Given the description of an element on the screen output the (x, y) to click on. 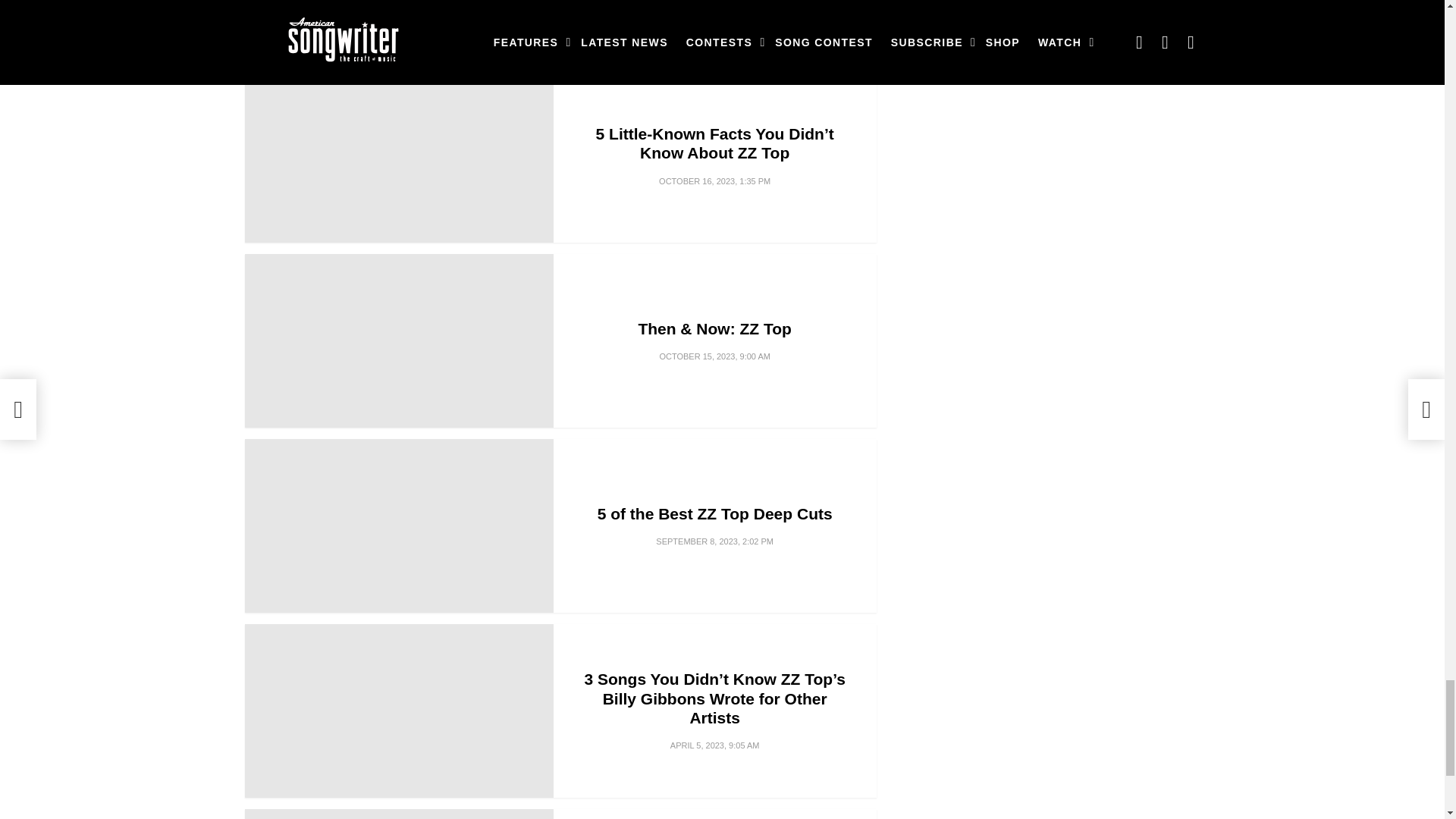
5 Best ZZ Top Albums Ranked (398, 28)
5 of the Best ZZ Top Deep Cuts (398, 525)
